Given the description of an element on the screen output the (x, y) to click on. 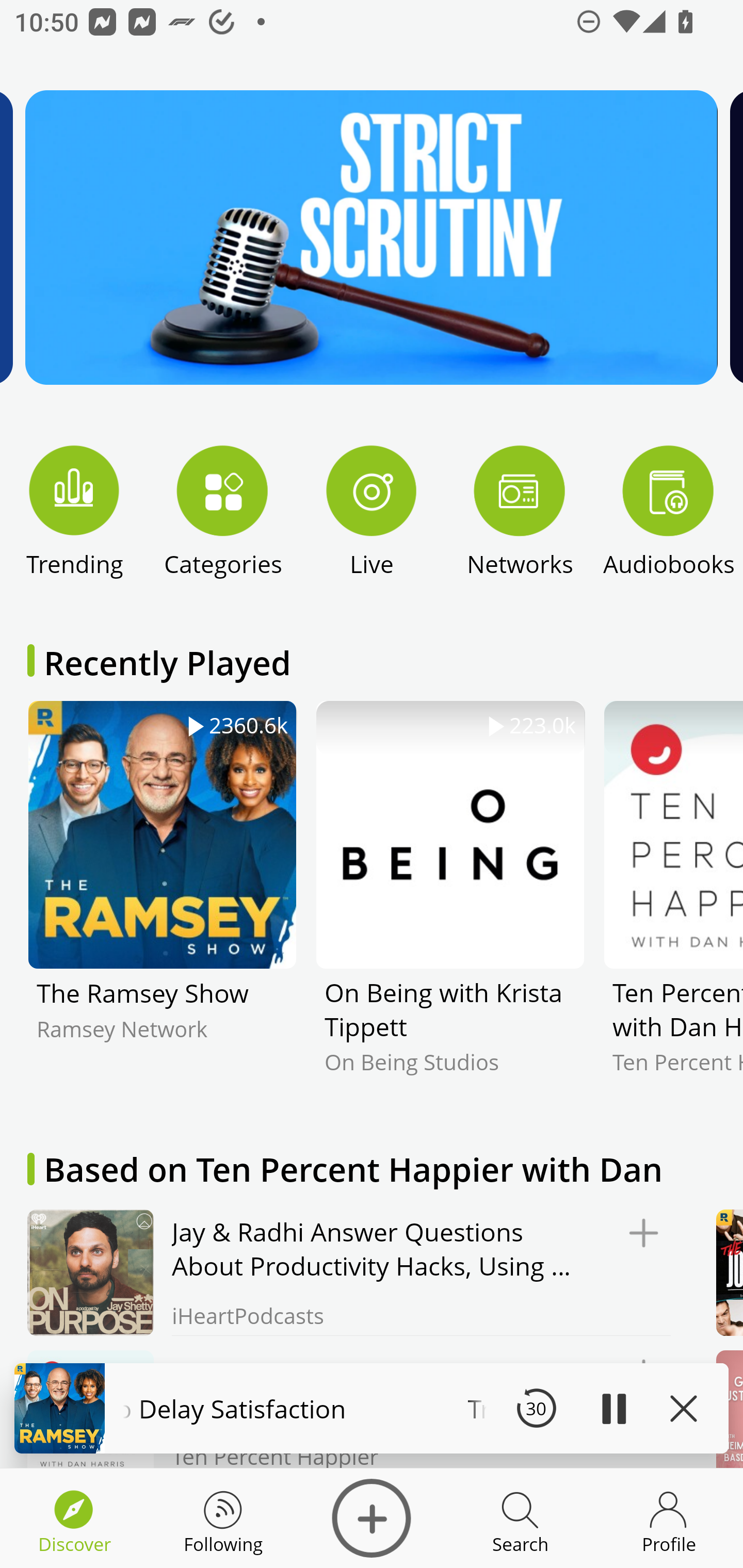
2360.6k The Ramsey Show Ramsey Network (162, 902)
Play (613, 1407)
30 Seek Backward (536, 1407)
Discover Following (222, 1518)
Discover (371, 1518)
Discover Search (519, 1518)
Discover Profile (668, 1518)
